Given the description of an element on the screen output the (x, y) to click on. 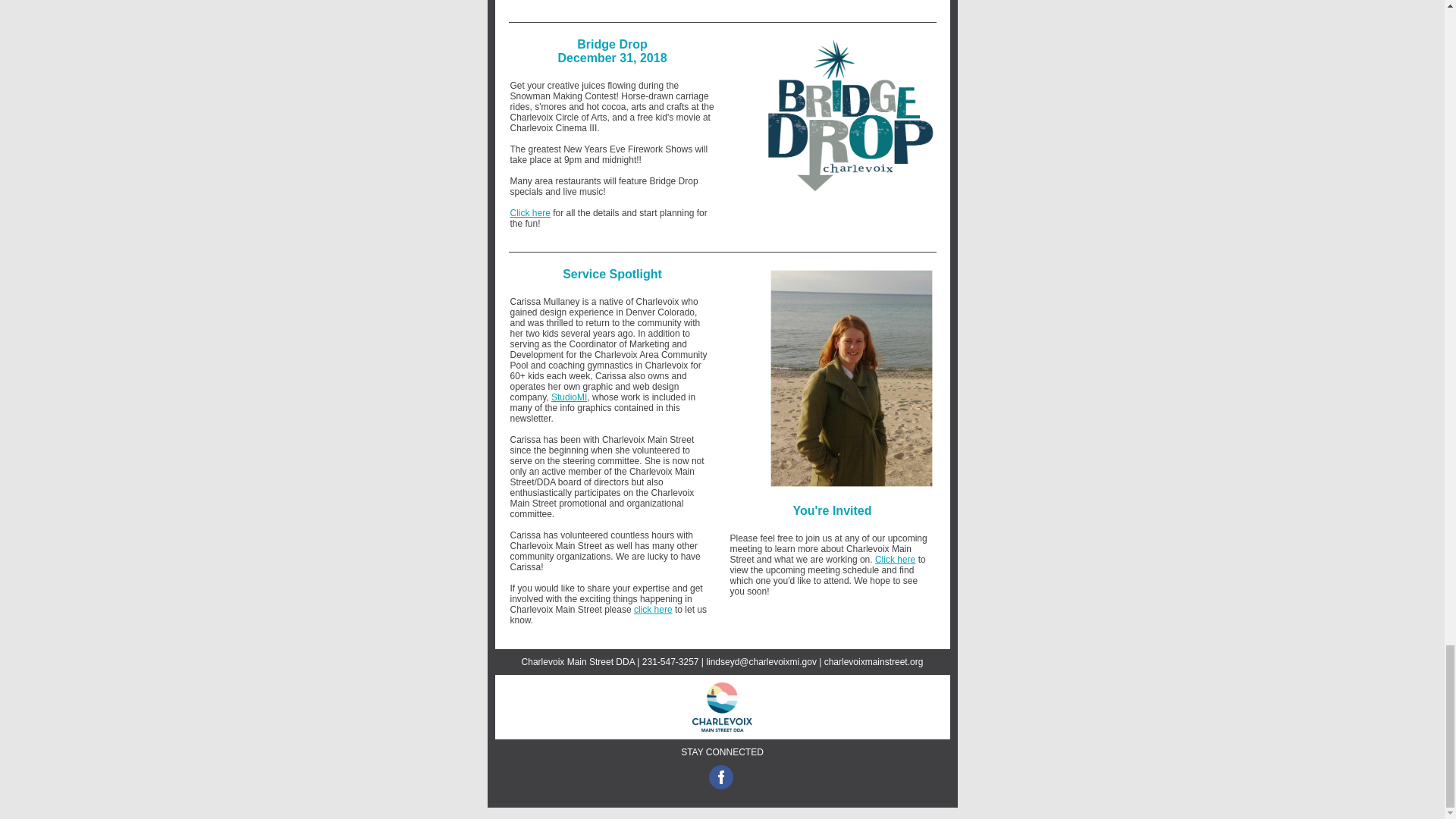
click here (652, 609)
Click here (895, 559)
StudioMI (568, 397)
Click here (529, 213)
